Given the description of an element on the screen output the (x, y) to click on. 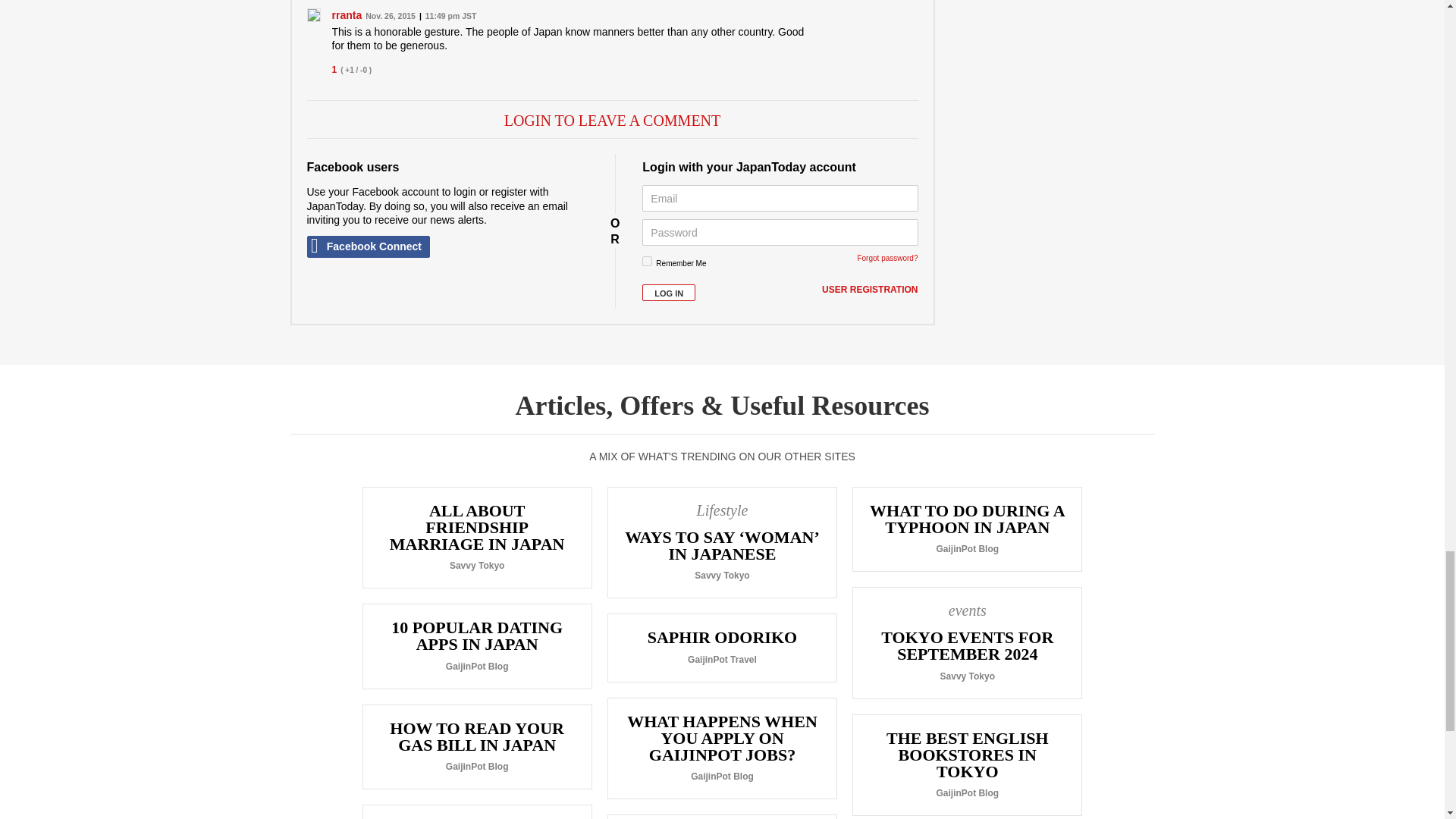
User registration (869, 289)
1 (647, 261)
Connect with Facebook (367, 246)
Forgot password? (887, 257)
Log In (668, 292)
